Given the description of an element on the screen output the (x, y) to click on. 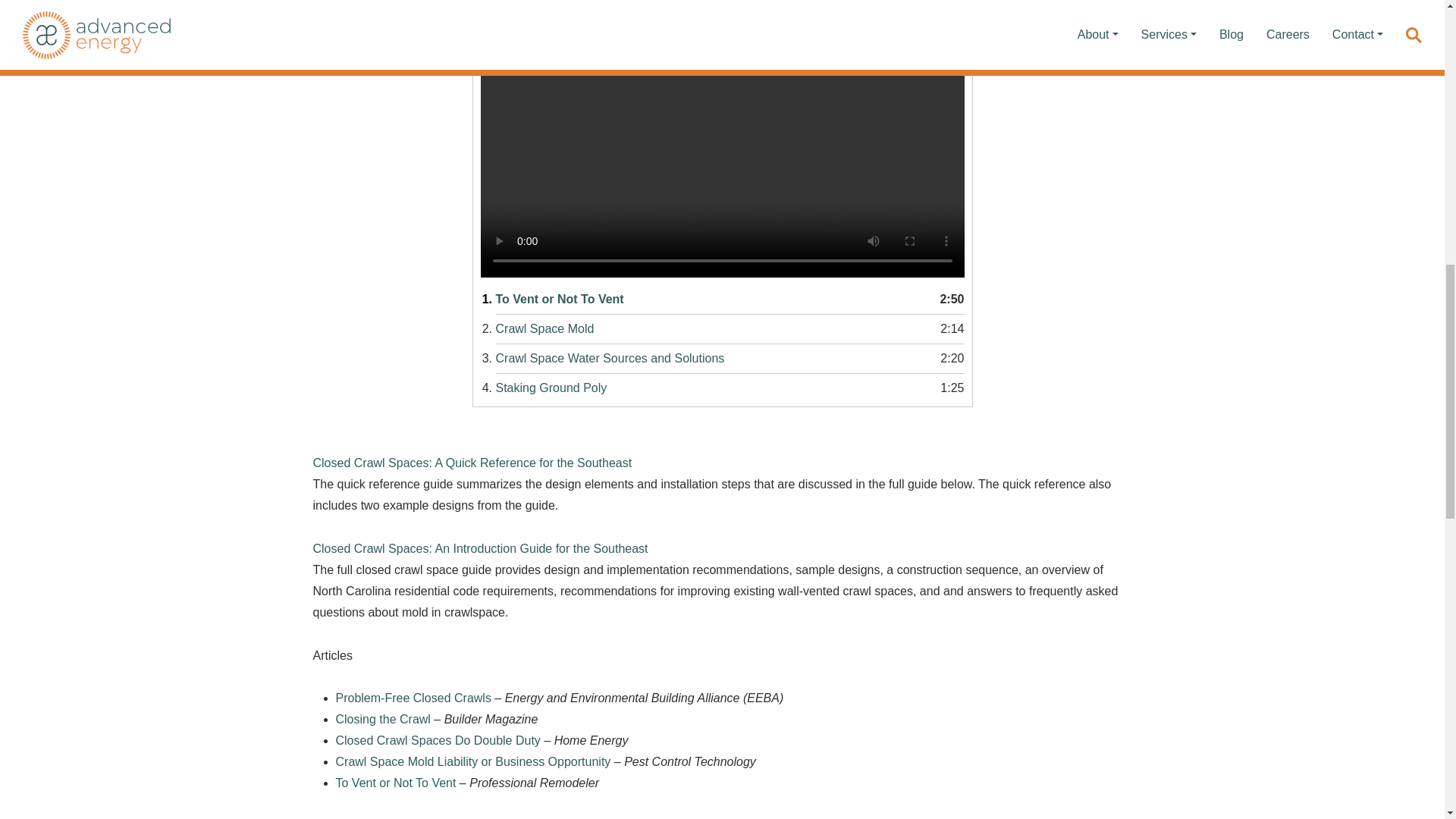
Closed Crawl Spaces: A Quick Reference for the Southeast (729, 328)
